Given the description of an element on the screen output the (x, y) to click on. 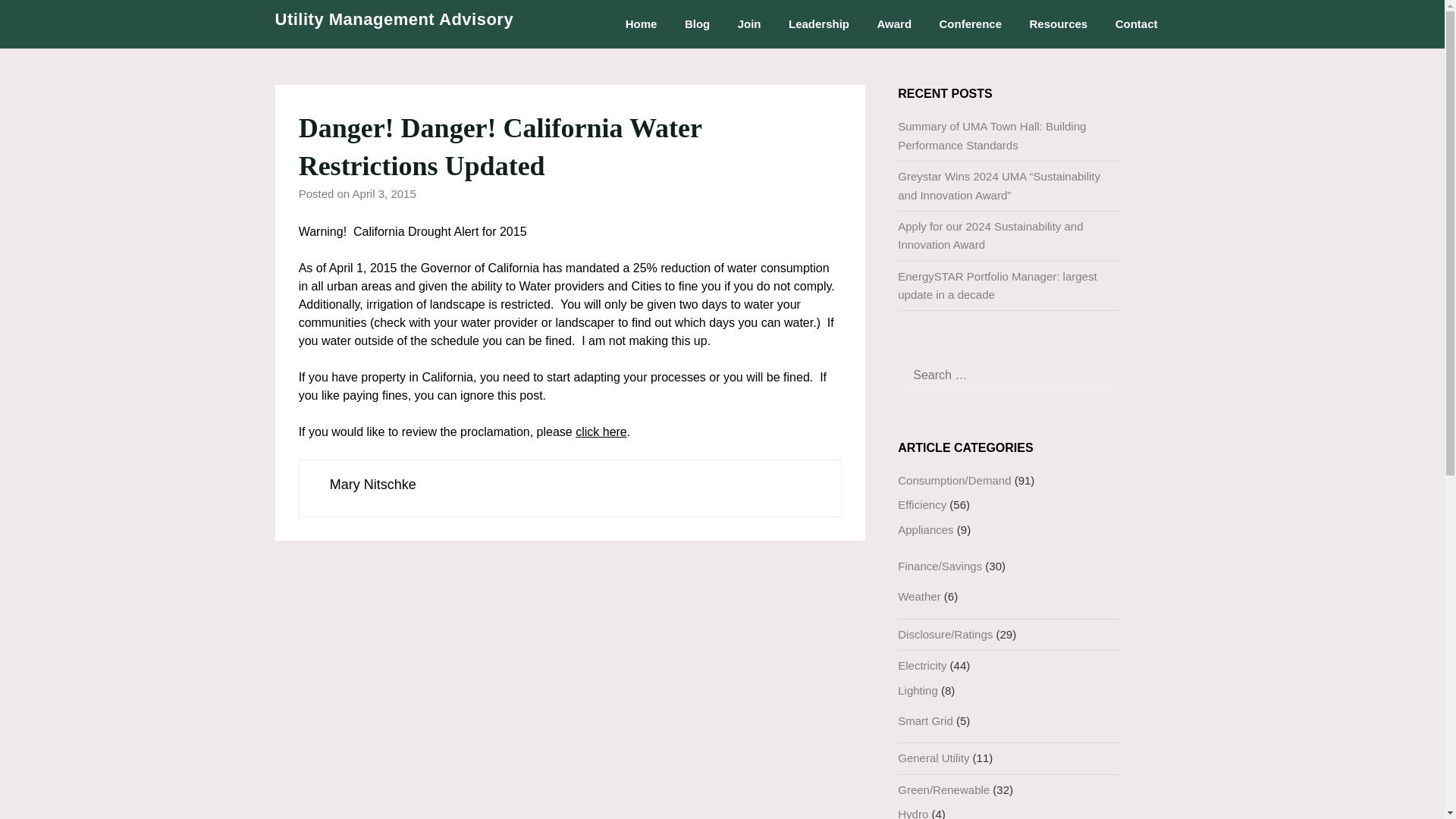
Smart Grid (925, 720)
Mary Nitschke (373, 484)
Hydro (913, 813)
Lighting (917, 689)
Appliances (925, 529)
Weather (919, 595)
Join (749, 24)
General Utility (933, 757)
click here (601, 431)
Award (893, 24)
